Given the description of an element on the screen output the (x, y) to click on. 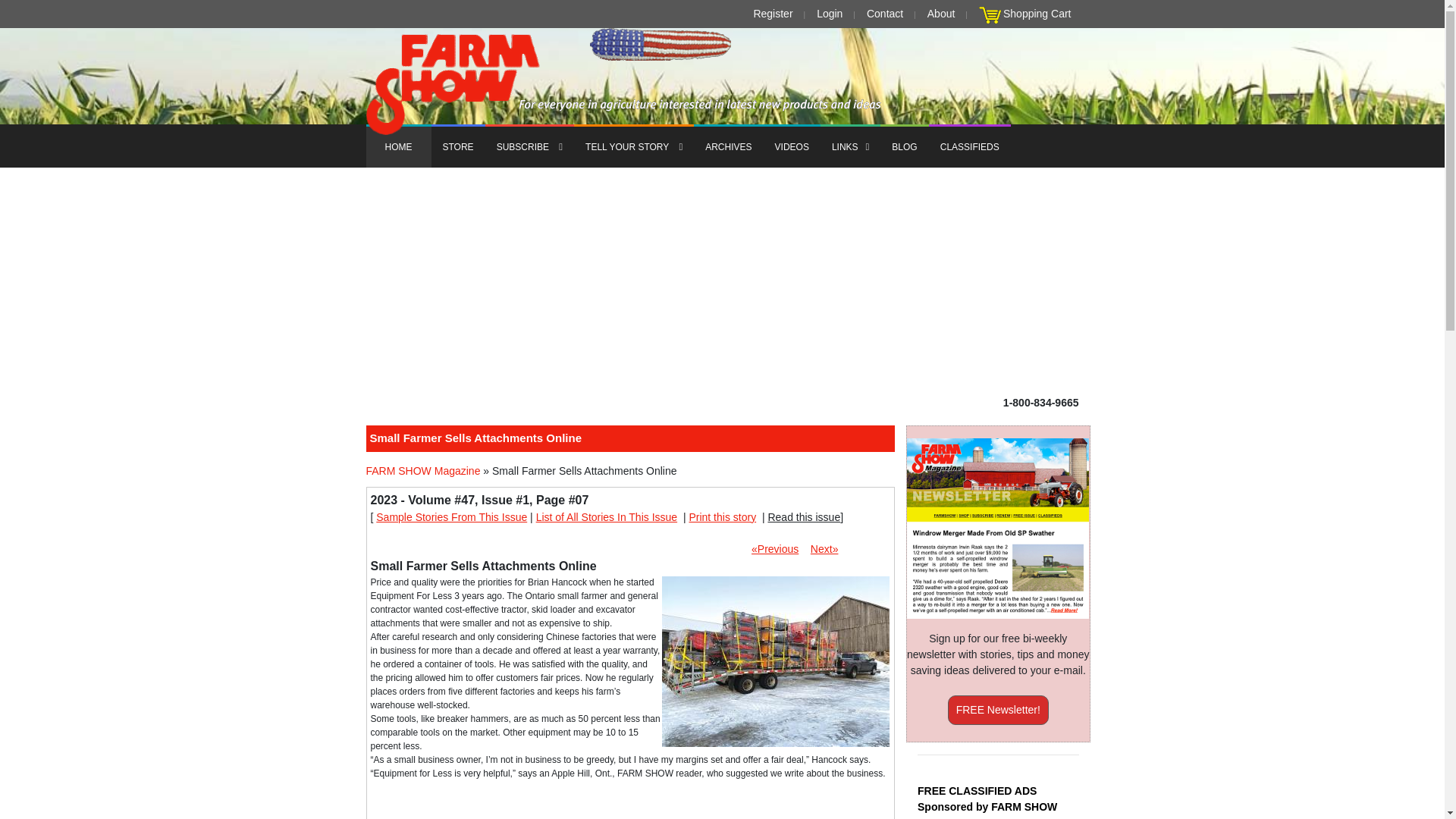
ARCHIVES (728, 145)
HOME (397, 145)
VIDEOS (791, 145)
Click to View Your Shopping Cart (989, 14)
About (941, 13)
Register (772, 13)
Login (829, 13)
Shopping Cart (1037, 13)
